Given the description of an element on the screen output the (x, y) to click on. 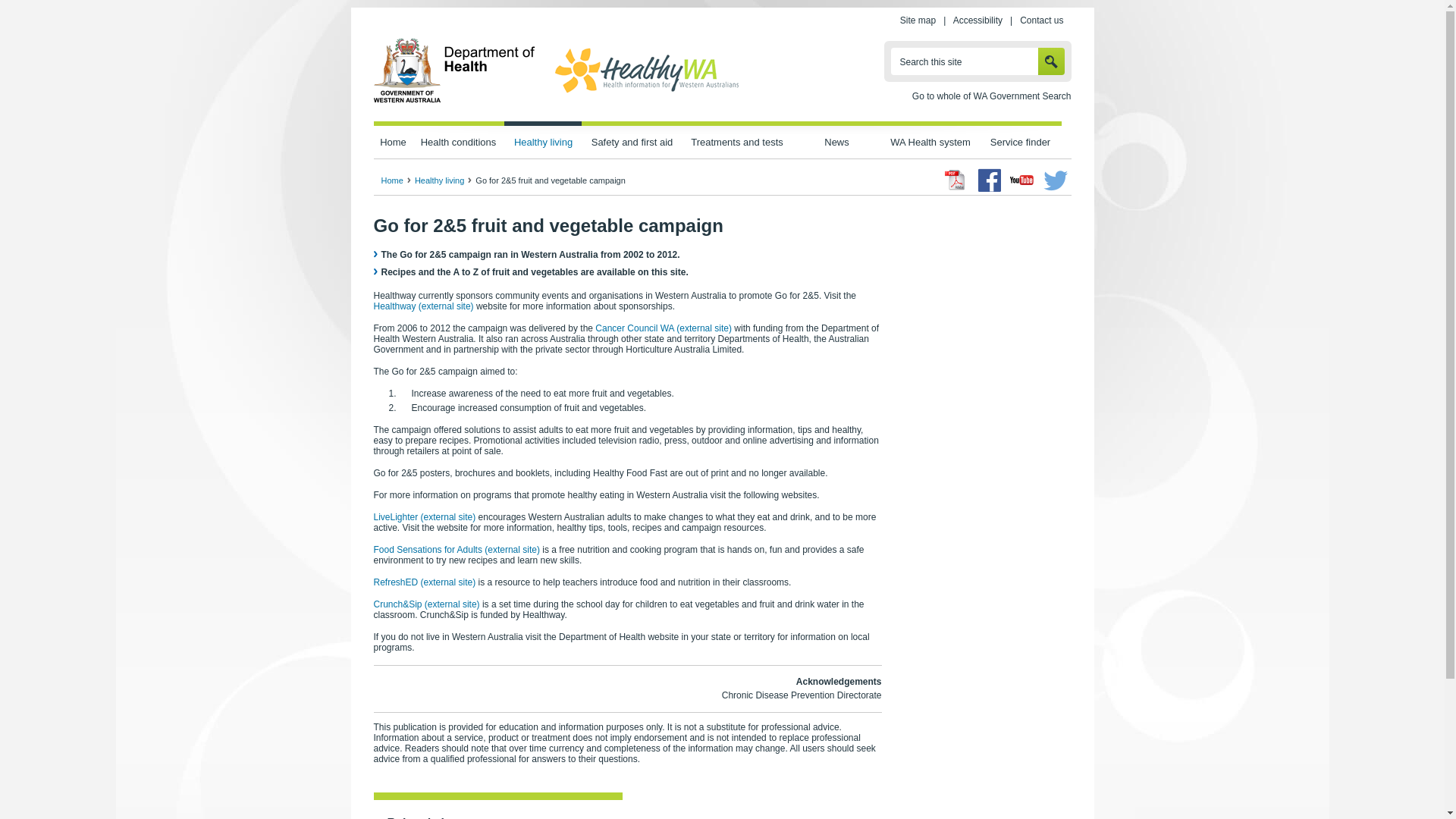
Crunch&Sip (external site) Element type: text (426, 604)
HealthyWA - Health Information for Western Australians Element type: hover (646, 92)
Home Element type: text (392, 139)
Twitter Element type: text (1055, 179)
Healthy living Element type: text (442, 180)
LiveLighter (external site) Element type: text (424, 516)
Health conditions Element type: text (458, 139)
Go to whole of WA Government Search Element type: text (991, 96)
Accessibility Element type: text (977, 20)
Treatments and tests Element type: text (736, 139)
Safety and first aid Element type: text (631, 139)
Home Element type: text (395, 180)
Facebook Element type: text (989, 179)
Youtube Element type: text (1021, 180)
Cancer Council WA (external site) Element type: text (663, 328)
Food Sensations for Adults (external site) Element type: text (456, 549)
Contact us Element type: text (1041, 20)
Healthy living Element type: text (542, 139)
Print to PDF Element type: hover (954, 179)
SEARCH Element type: text (1050, 61)
Service finder Element type: text (1020, 139)
Site map Element type: text (917, 20)
Government of Western Australia Department of Health Element type: hover (453, 99)
RefreshED (external site) Element type: text (424, 582)
WA Health system Element type: text (930, 139)
News Element type: text (836, 139)
Healthway (external site) Element type: text (423, 306)
